Given the description of an element on the screen output the (x, y) to click on. 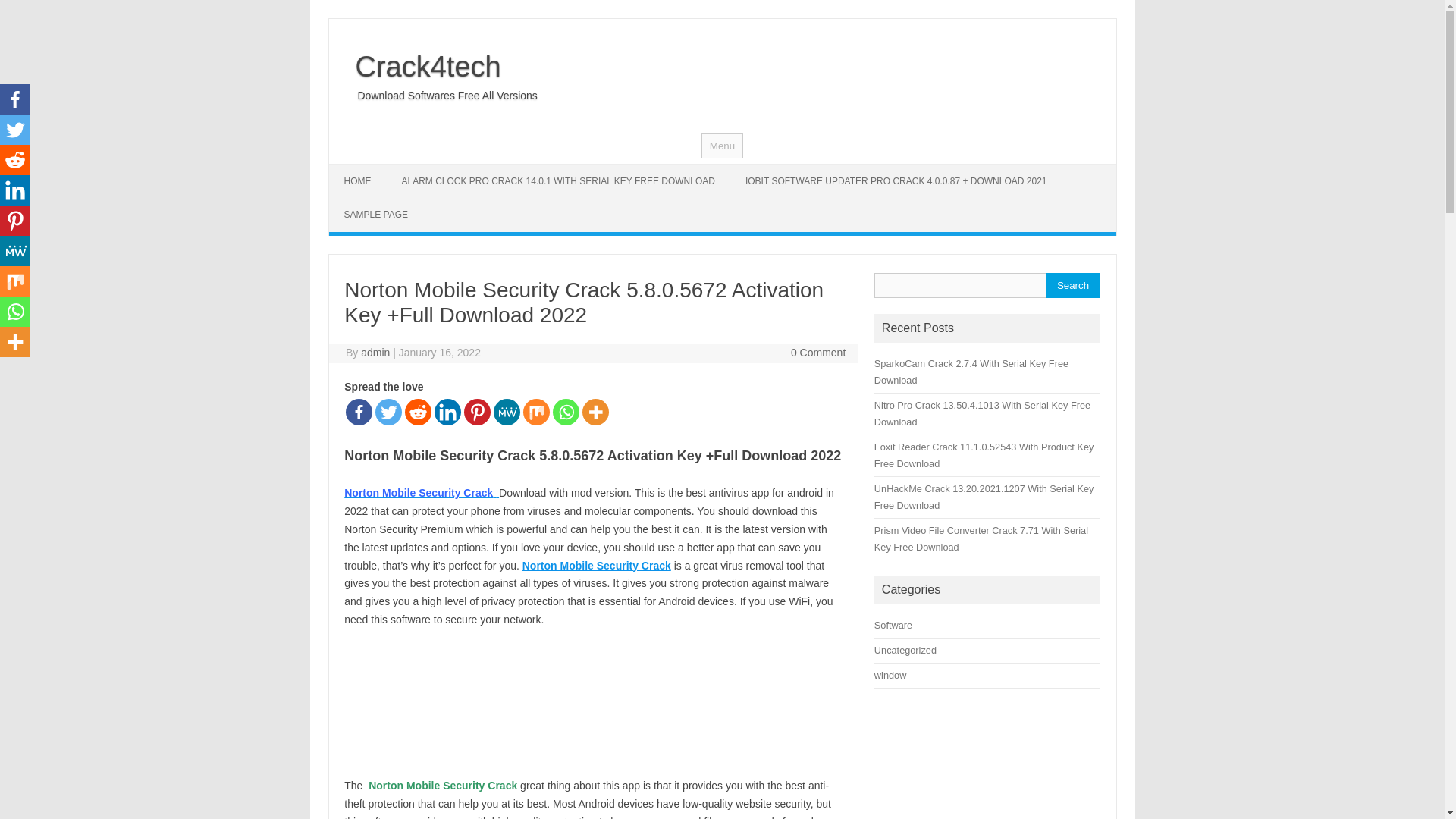
HOME (358, 181)
Linkedin (447, 411)
Posts by admin (375, 352)
Facebook (359, 411)
admin (375, 352)
Mix (536, 411)
MeWe (506, 411)
Crack4tech (421, 66)
Menu (721, 145)
Pinterest (477, 411)
